Given the description of an element on the screen output the (x, y) to click on. 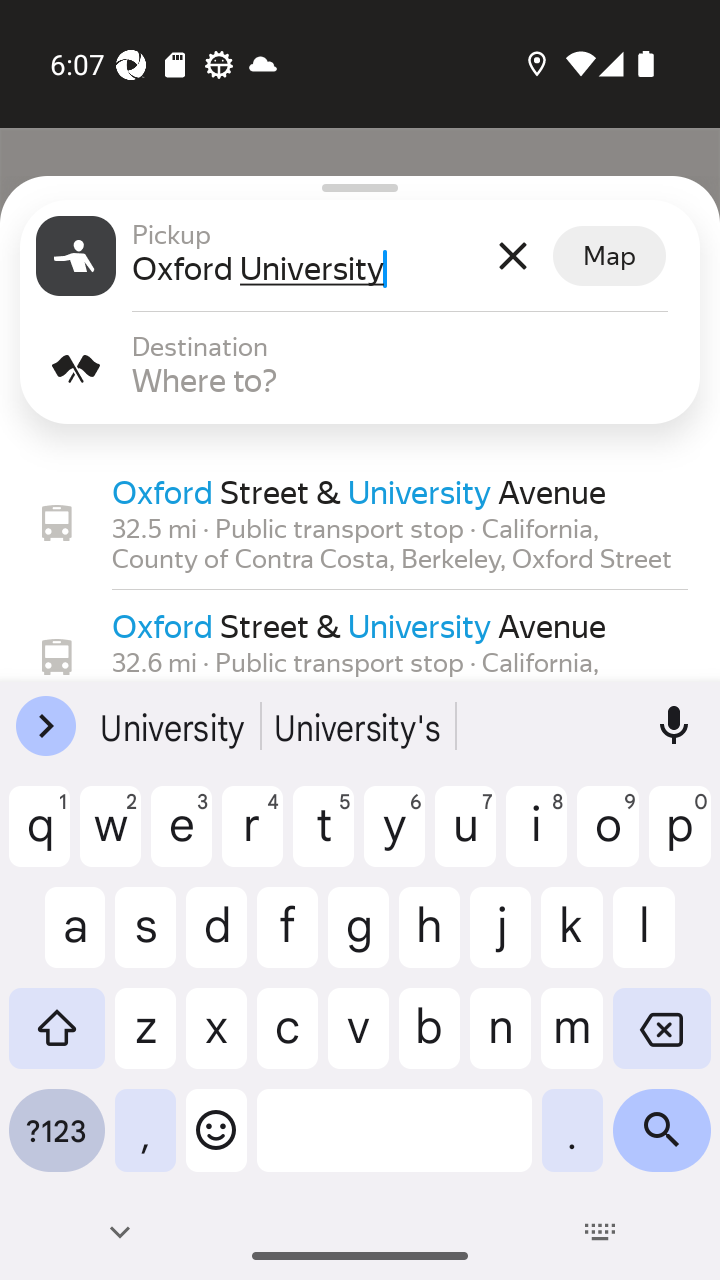
Pickup Pickup Oxford University Clear text box Map (359, 255)
Map (609, 256)
Clear text box (512, 255)
Oxford University (307, 268)
Destination Destination Where to? (359, 367)
Where to? (407, 380)
